Given the description of an element on the screen output the (x, y) to click on. 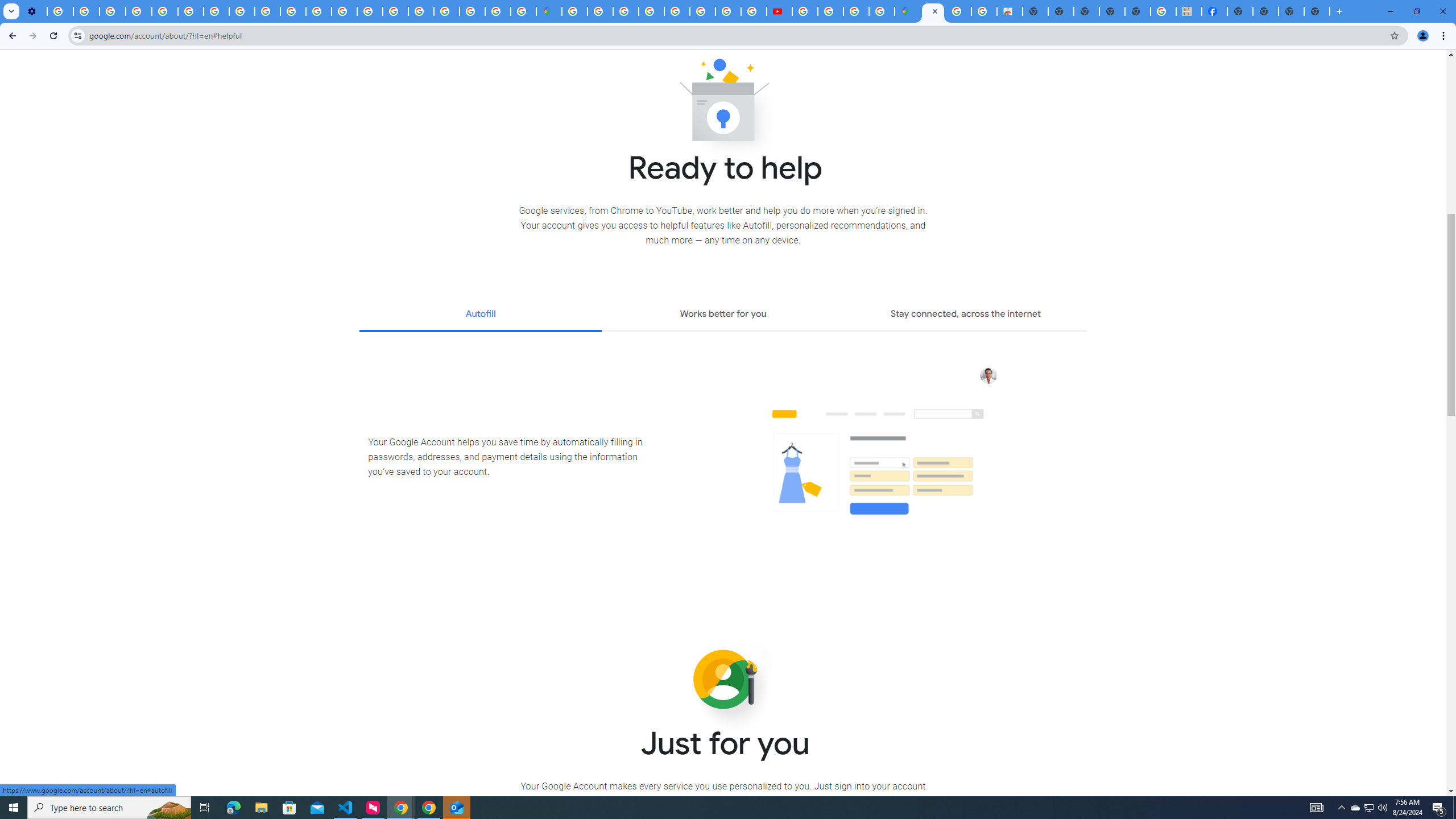
https://scholar.google.com/ (318, 11)
Autofill (480, 315)
Google Maps (548, 11)
MILEY CYRUS. (1188, 11)
Privacy Help Center - Policies Help (702, 11)
Miley Cyrus | Facebook (1213, 11)
Google Maps (907, 11)
